Given the description of an element on the screen output the (x, y) to click on. 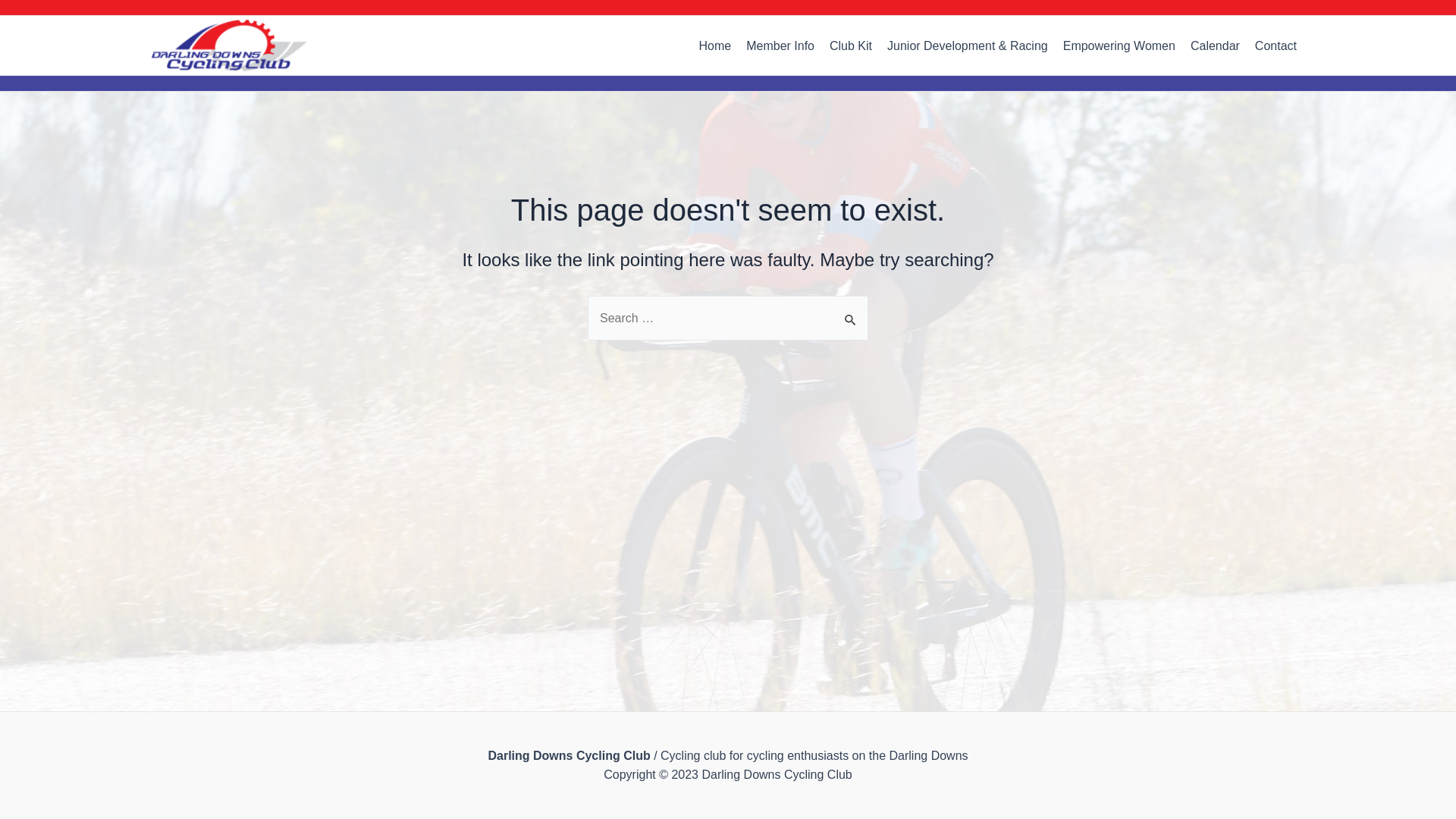
Club Kit Element type: text (850, 45)
Contact Element type: text (1275, 45)
Member Info Element type: text (780, 45)
Home Element type: text (715, 45)
Calendar Element type: text (1215, 45)
Junior Development & Racing Element type: text (967, 45)
Empowering Women Element type: text (1119, 45)
Search Element type: text (851, 311)
